Given the description of an element on the screen output the (x, y) to click on. 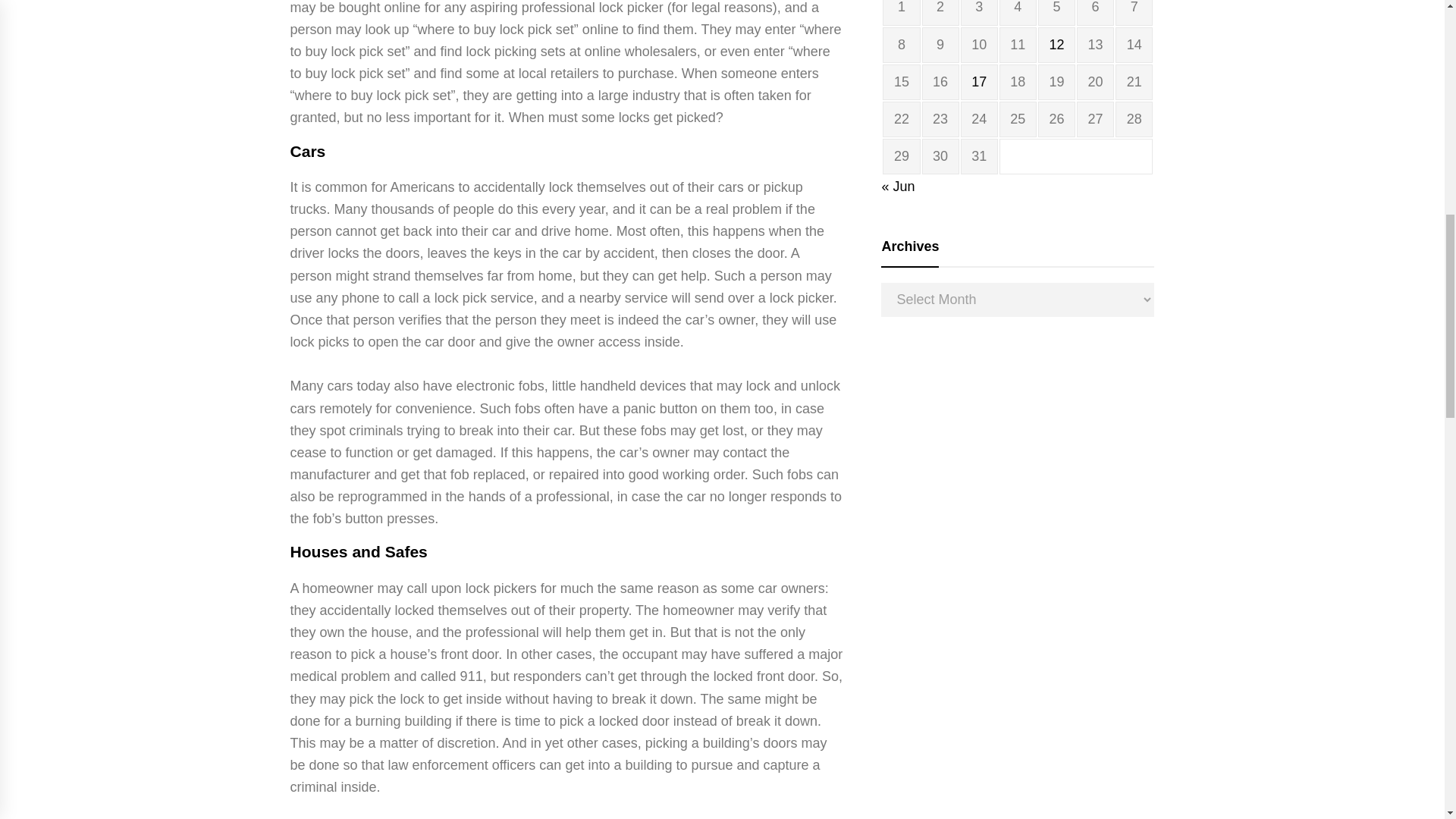
17 (979, 81)
12 (1056, 44)
